Given the description of an element on the screen output the (x, y) to click on. 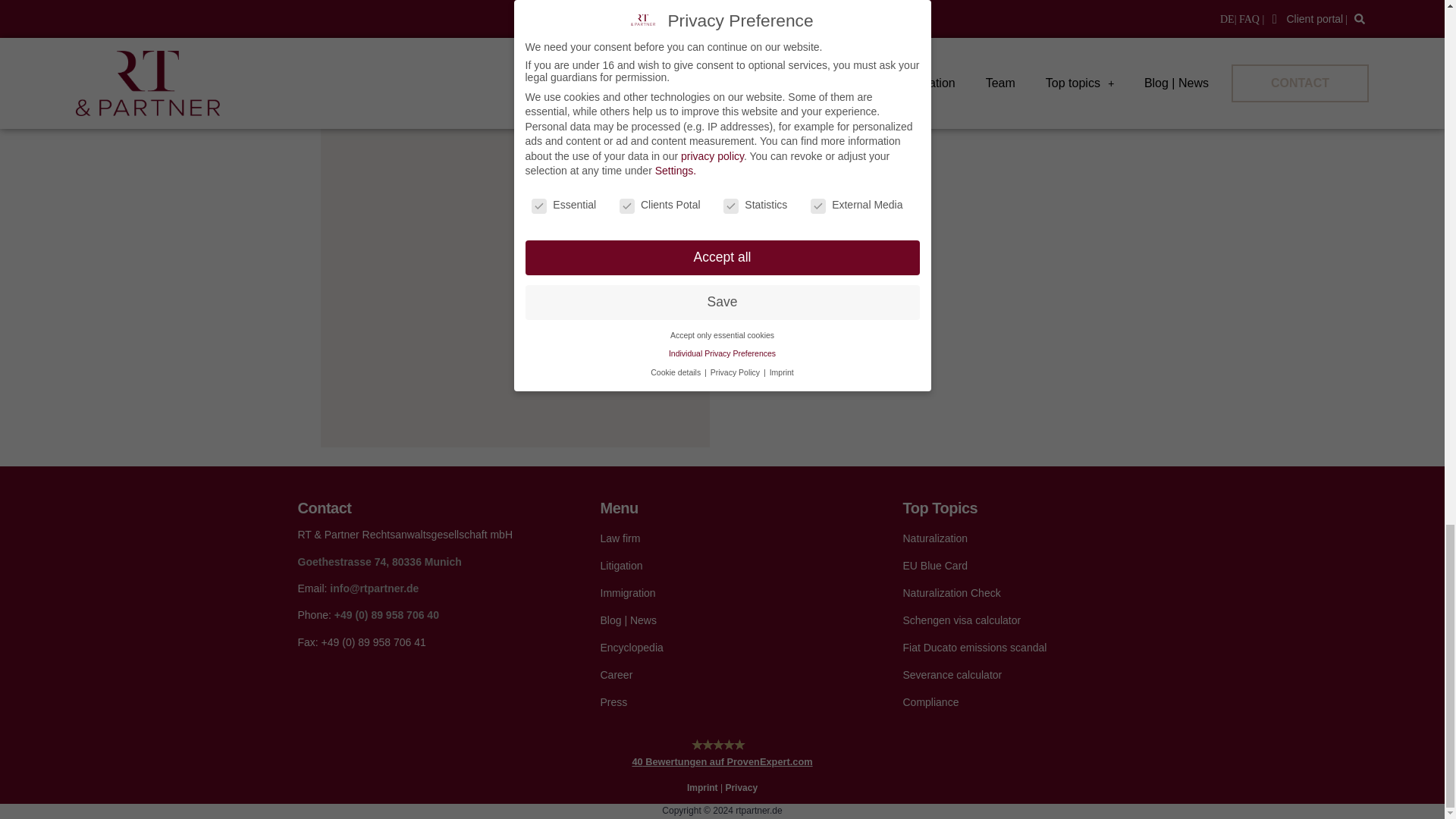
Immigration (721, 593)
Law firm (721, 538)
Litigation (721, 566)
Encyclopedia (721, 648)
Goethestrasse 74, 80336 Munich (379, 562)
